Given the description of an element on the screen output the (x, y) to click on. 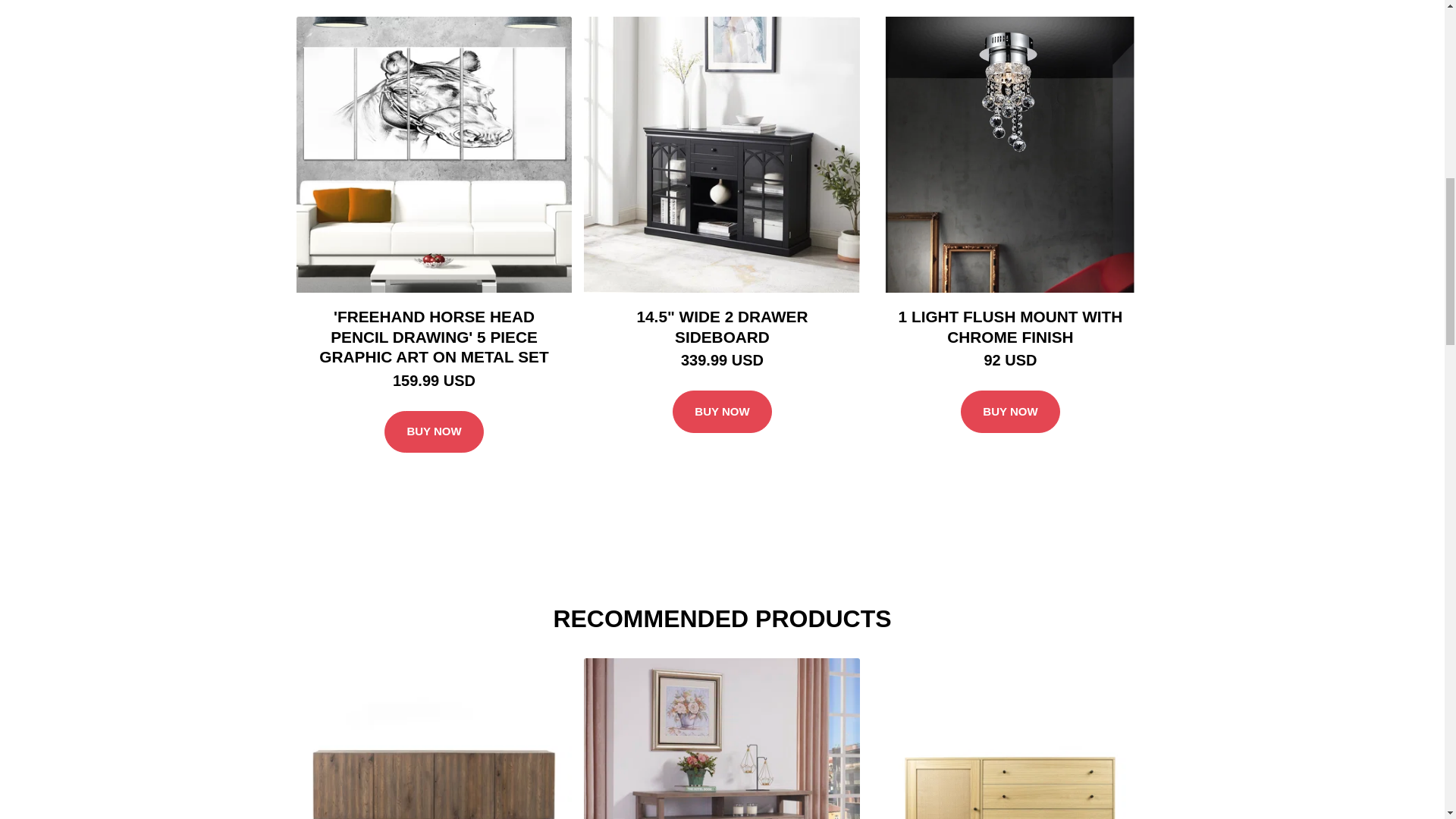
14.5" WIDE 2 DRAWER SIDEBOARD (722, 326)
1 LIGHT FLUSH MOUNT WITH CHROME FINISH (1010, 326)
BUY NOW (433, 432)
BUY NOW (1009, 411)
BUY NOW (721, 411)
